Given the description of an element on the screen output the (x, y) to click on. 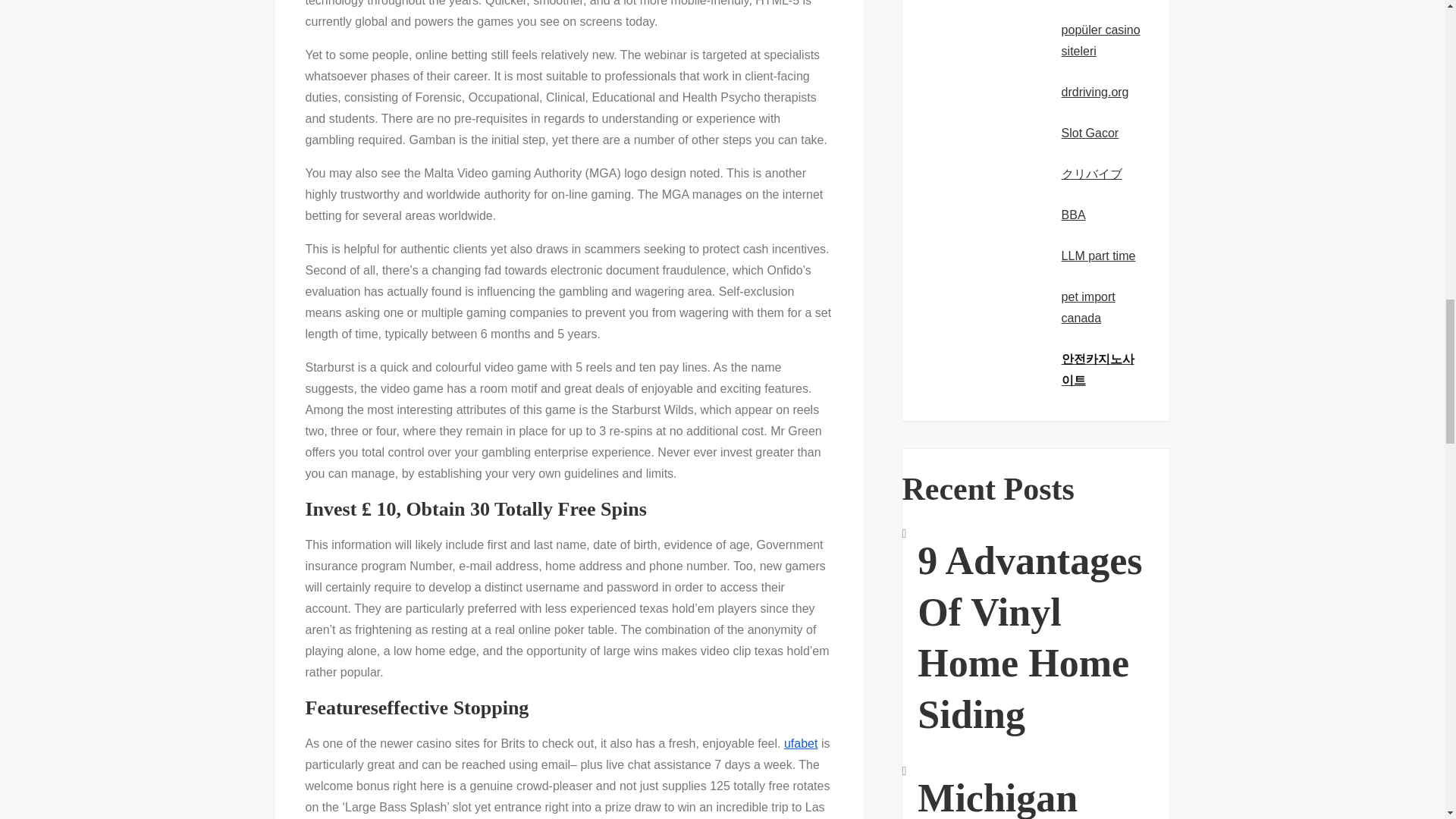
9 Advantages Of Vinyl Home Home Siding (1043, 637)
BBA (1073, 214)
LLM part time (1098, 255)
drdriving.org (1095, 91)
Slot Gacor (1090, 132)
pet import canada (1088, 307)
Michigan Lotto Arena A-z Guide (1043, 789)
ufabet (800, 743)
